Given the description of an element on the screen output the (x, y) to click on. 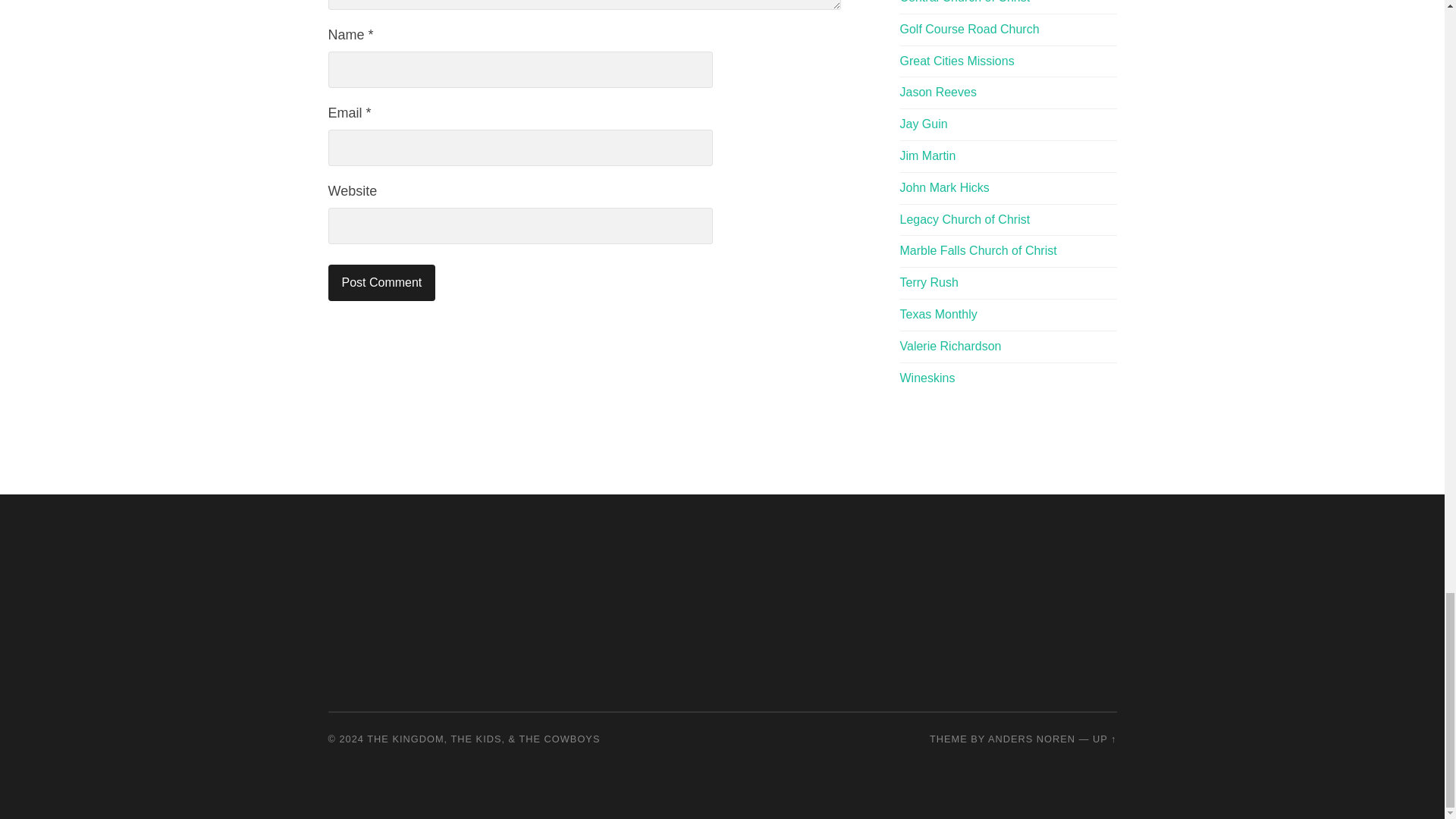
Morning Rush (928, 282)
GCR Church (969, 29)
The Kitchen Sink (950, 345)
Equipping and Encouraging Missionaries and Church Planters (956, 60)
Marble Falls Church of Christ in the Texas Hill Country (978, 250)
Legacy Church of Christ in North Richland Hills, Texas (964, 219)
The National Magazine of Texas (937, 314)
John Mark Hicks Ministries (943, 187)
To the top (1104, 738)
Exploring the Heart of Restoration (927, 377)
